Given the description of an element on the screen output the (x, y) to click on. 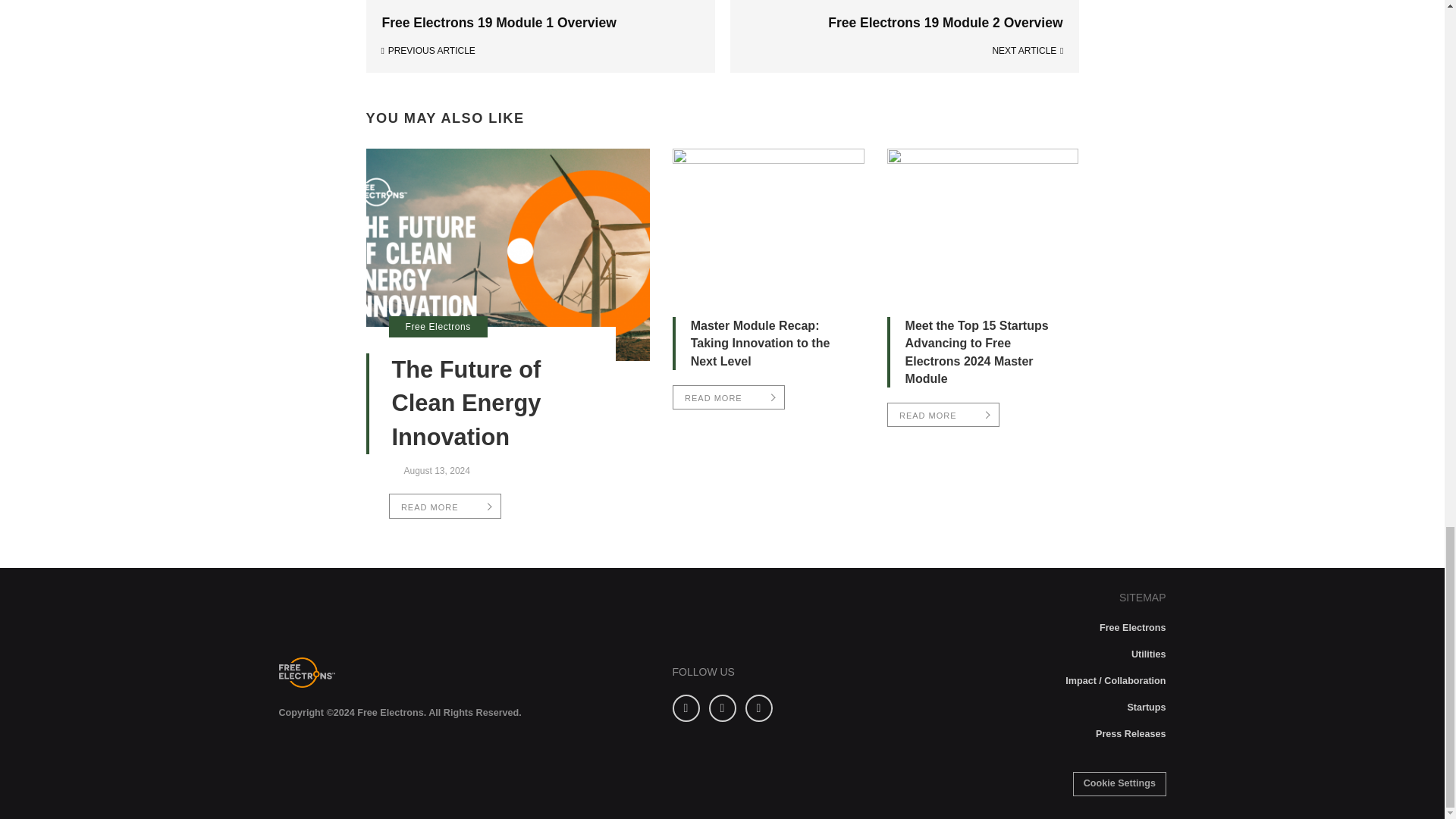
READ MORE (942, 414)
NEXT ARTICLE (903, 50)
Press Releases (1131, 735)
Free Electrons (1132, 628)
The Future of Clean Energy Innovation (465, 403)
Cookie Settings (1119, 784)
August 13, 2024 at 10:53 am (435, 470)
Free Electrons (437, 326)
READ MORE (728, 397)
